Given the description of an element on the screen output the (x, y) to click on. 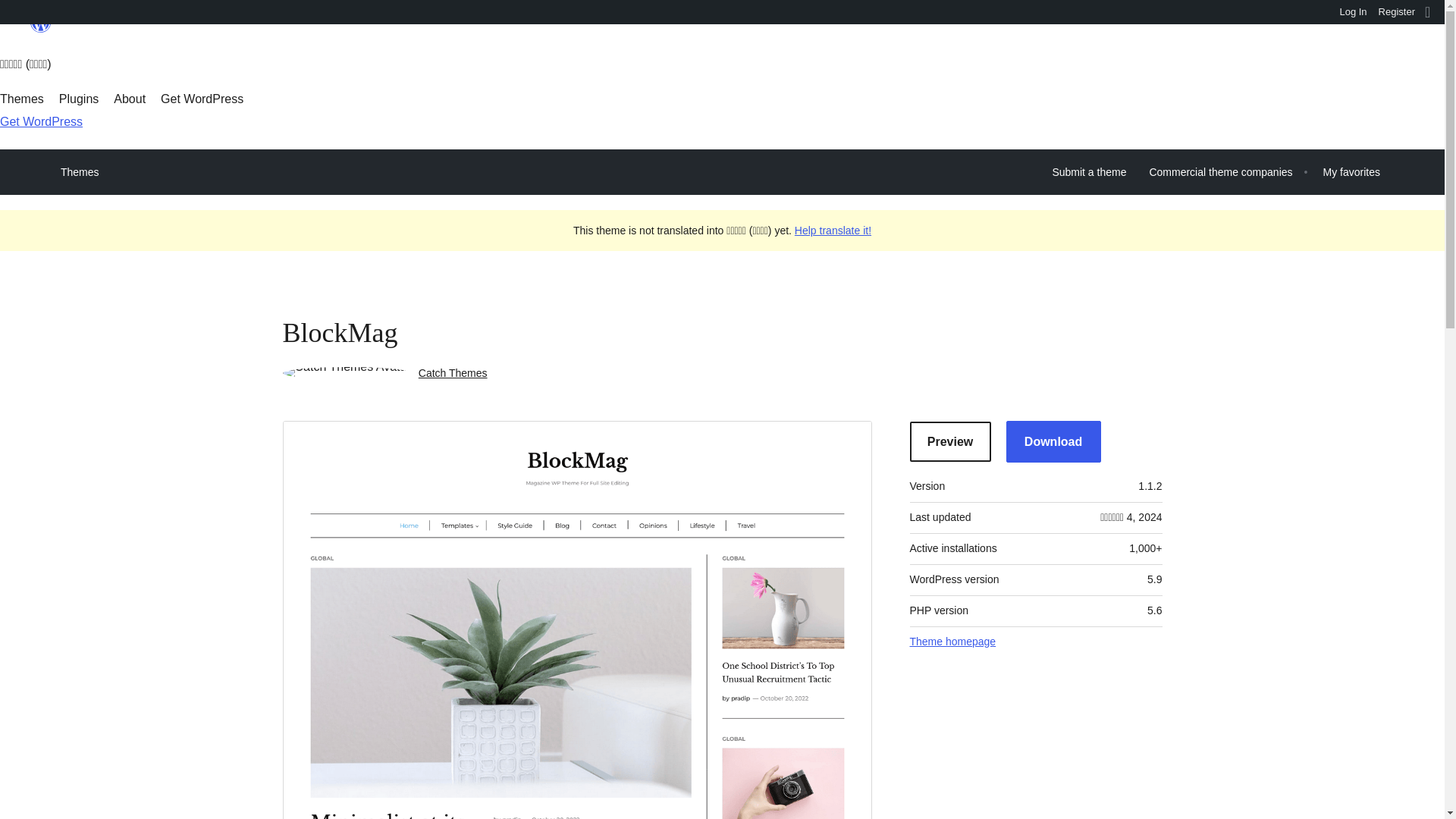
Plugins (79, 98)
Log In (1353, 12)
Search (16, 13)
Commercial theme companies (1219, 171)
About (129, 98)
Preview (950, 441)
WordPress.org (40, 29)
Register (1397, 12)
Submit a theme (1088, 171)
Themes (79, 171)
Get WordPress (201, 98)
Get WordPress (41, 121)
Theme homepage (952, 642)
Help translate it! (832, 230)
